Given the description of an element on the screen output the (x, y) to click on. 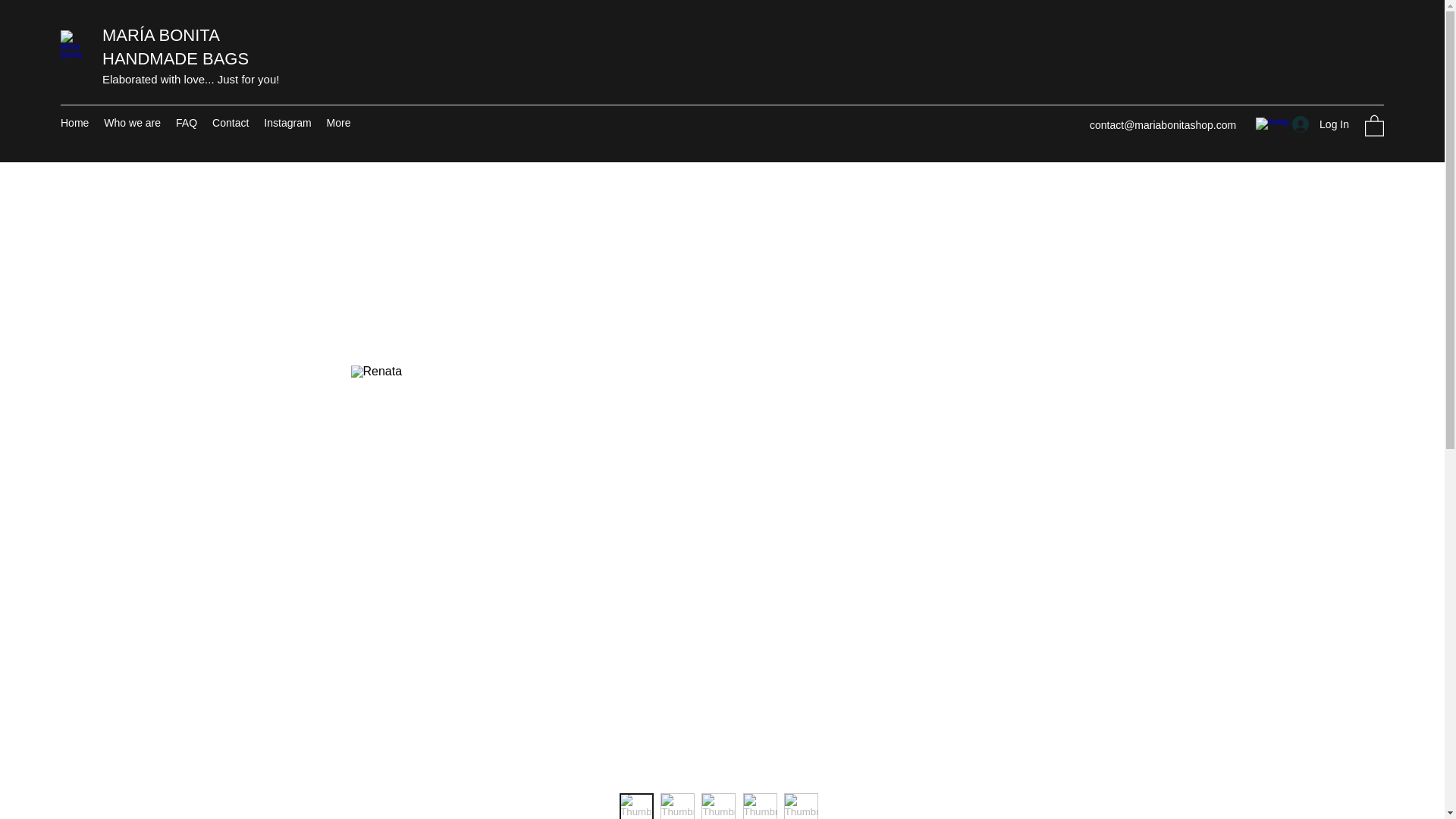
FAQ (186, 124)
Log In (1320, 124)
Contact (230, 124)
Instagram (287, 124)
Who we are (132, 124)
Home (74, 124)
